Given the description of an element on the screen output the (x, y) to click on. 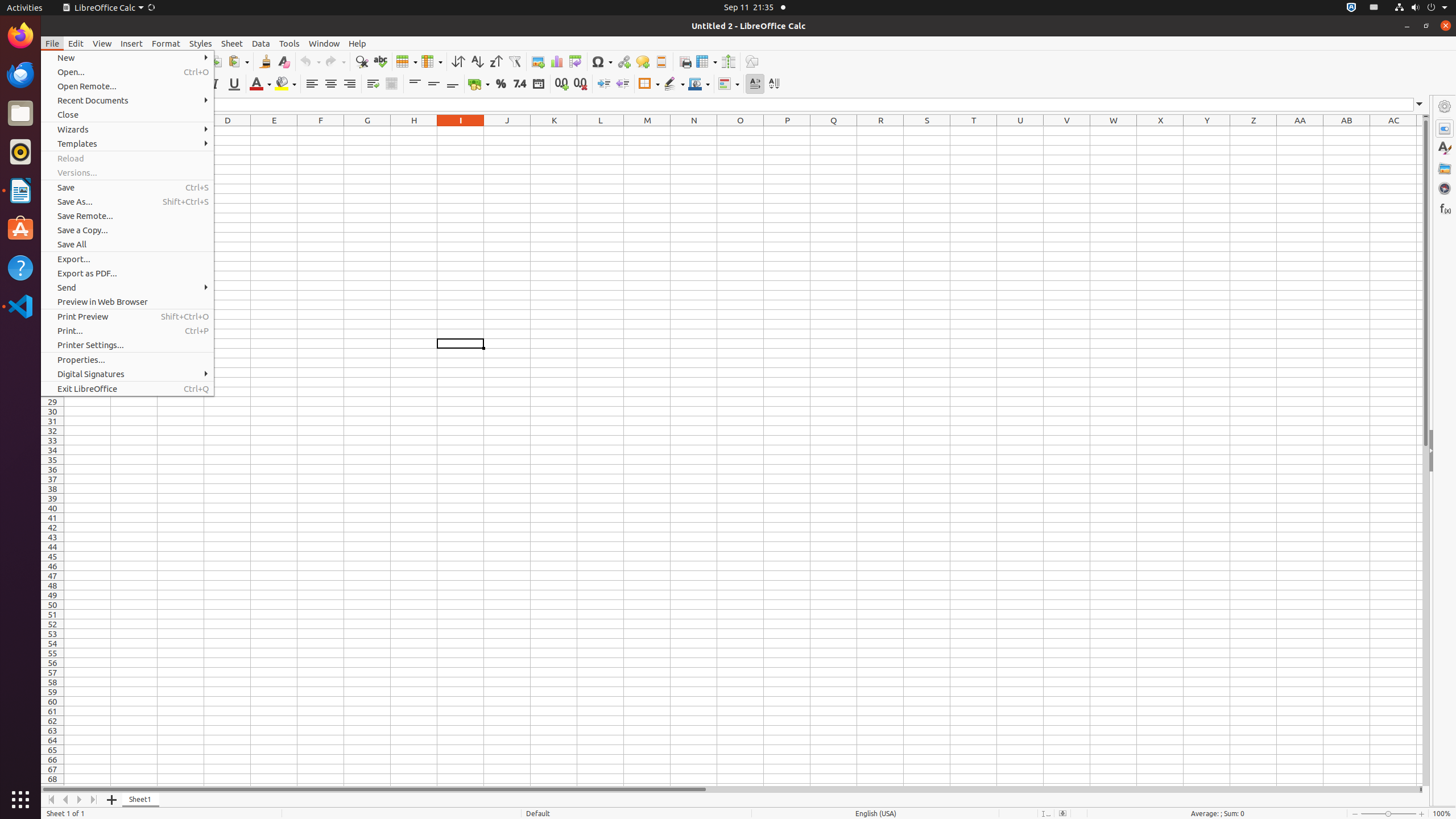
Chart Element type: push-button (556, 61)
Close Element type: menu-item (126, 114)
R1 Element type: table-cell (880, 130)
Print... Element type: menu-item (126, 330)
Send Element type: menu (126, 287)
